Given the description of an element on the screen output the (x, y) to click on. 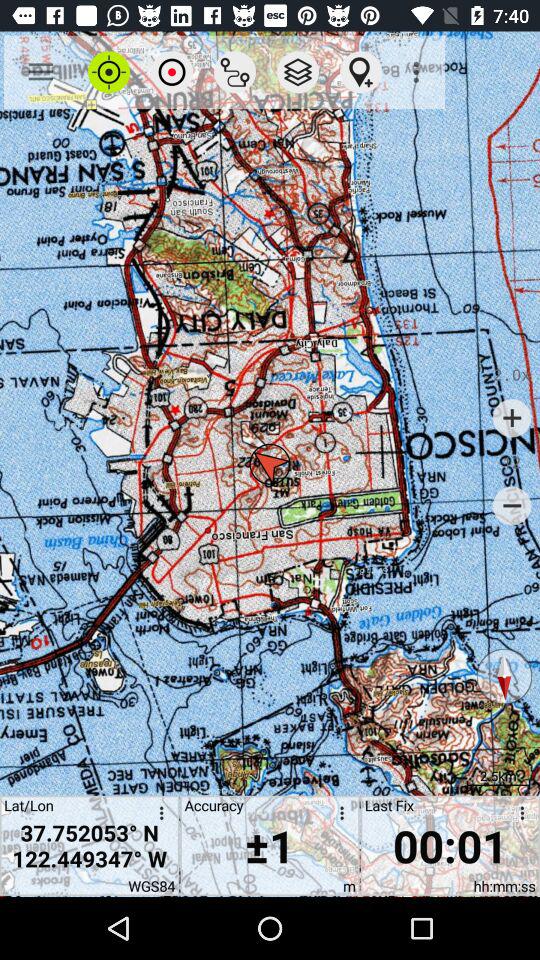
settings (519, 816)
